Given the description of an element on the screen output the (x, y) to click on. 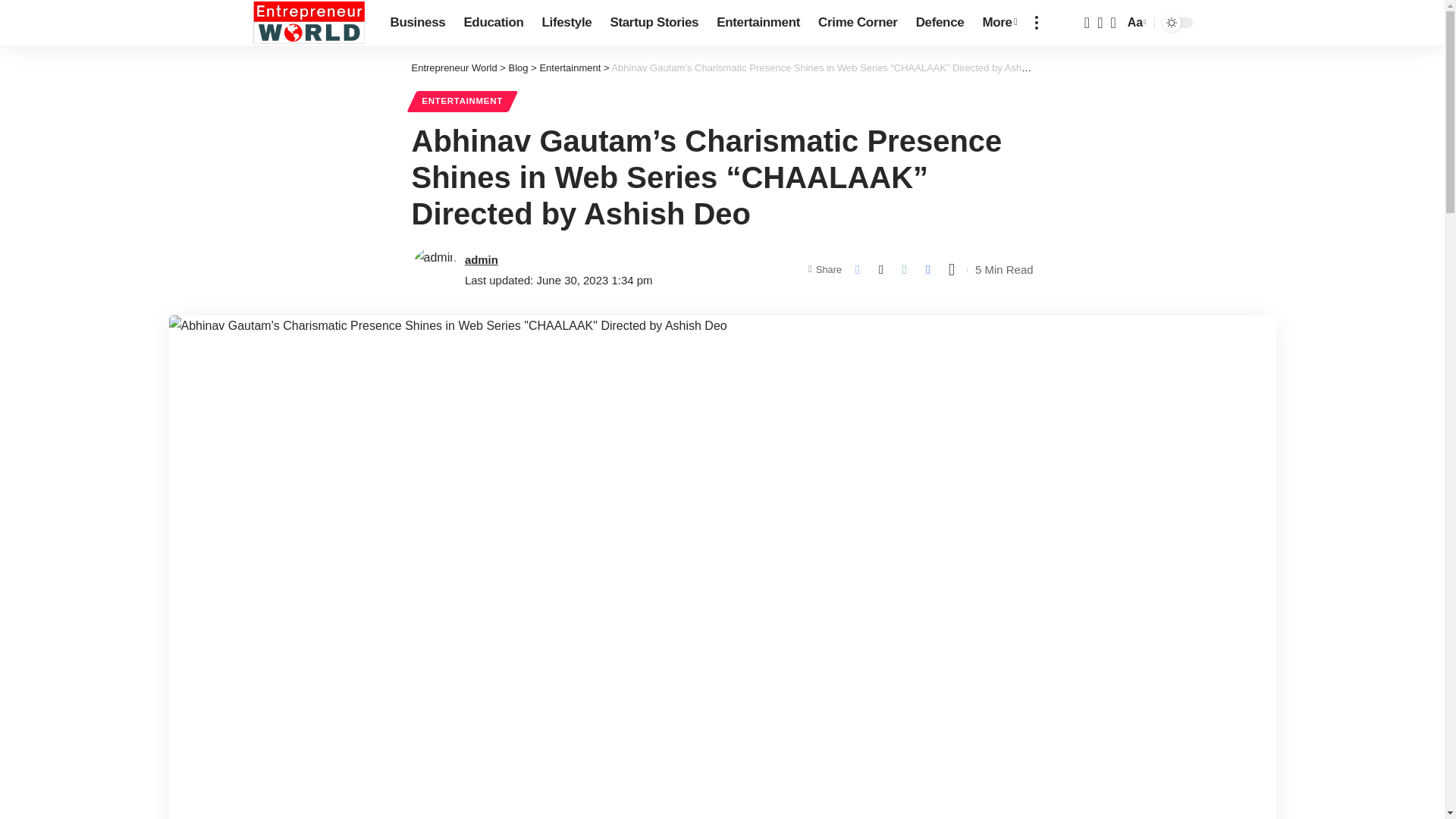
More (999, 22)
Crime Corner (858, 22)
Aa (1135, 22)
Go to the Entertainment Category archives. (568, 67)
Defence (940, 22)
Startup Stories (653, 22)
Business (417, 22)
Education (493, 22)
Go to Blog. (518, 67)
Lifestyle (565, 22)
Entrepreneur World (308, 22)
Entertainment (758, 22)
Go to Entrepreneur World. (453, 67)
